Given the description of an element on the screen output the (x, y) to click on. 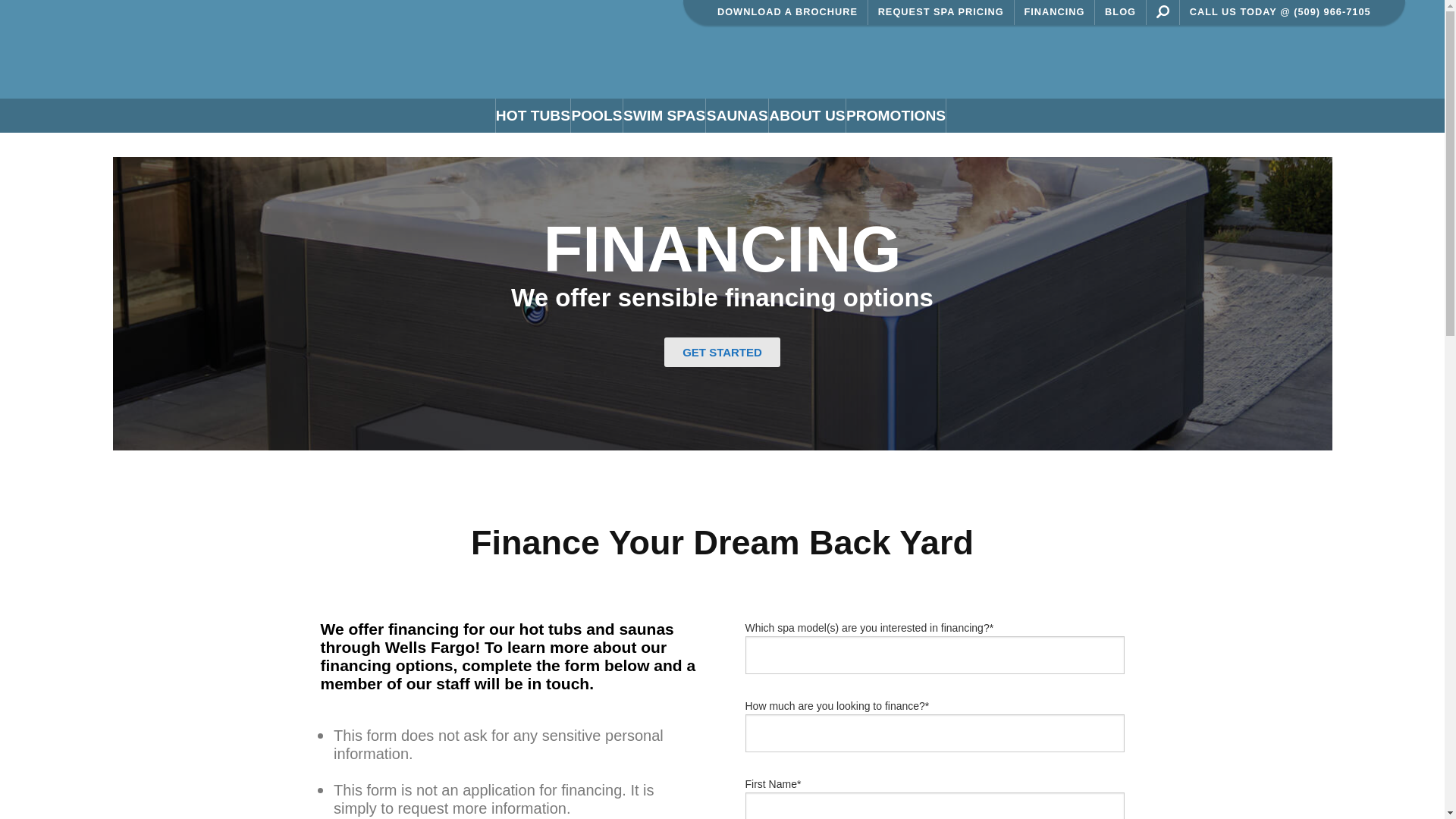
BLOG (1120, 42)
HOT TUBS (532, 145)
Save Today! (919, 15)
FINANCING (1055, 42)
DOWNLOAD A BROCHURE (787, 42)
REQUEST SPA PRICING (940, 42)
SEARCH (1162, 42)
